Given the description of an element on the screen output the (x, y) to click on. 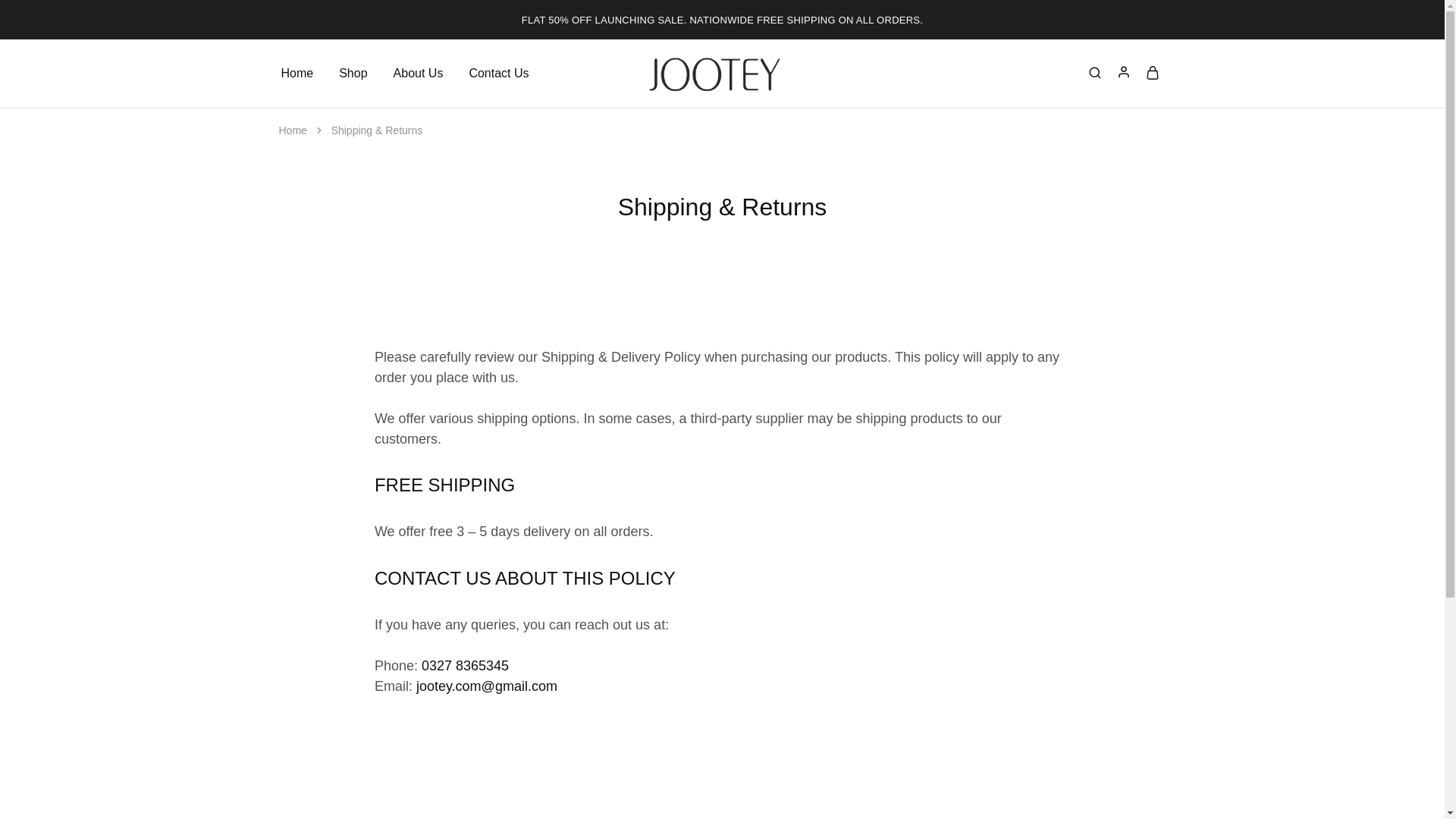
Home (294, 130)
Shop (352, 73)
Home (297, 73)
 0327 8365345 (462, 665)
Contact Us (498, 73)
About Us (418, 73)
